Given the description of an element on the screen output the (x, y) to click on. 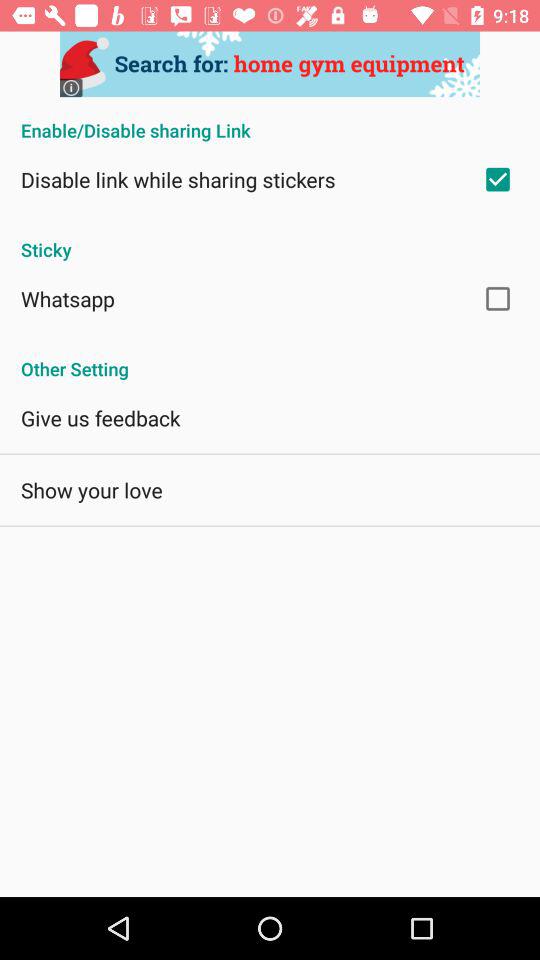
tap app at the center (270, 358)
